Given the description of an element on the screen output the (x, y) to click on. 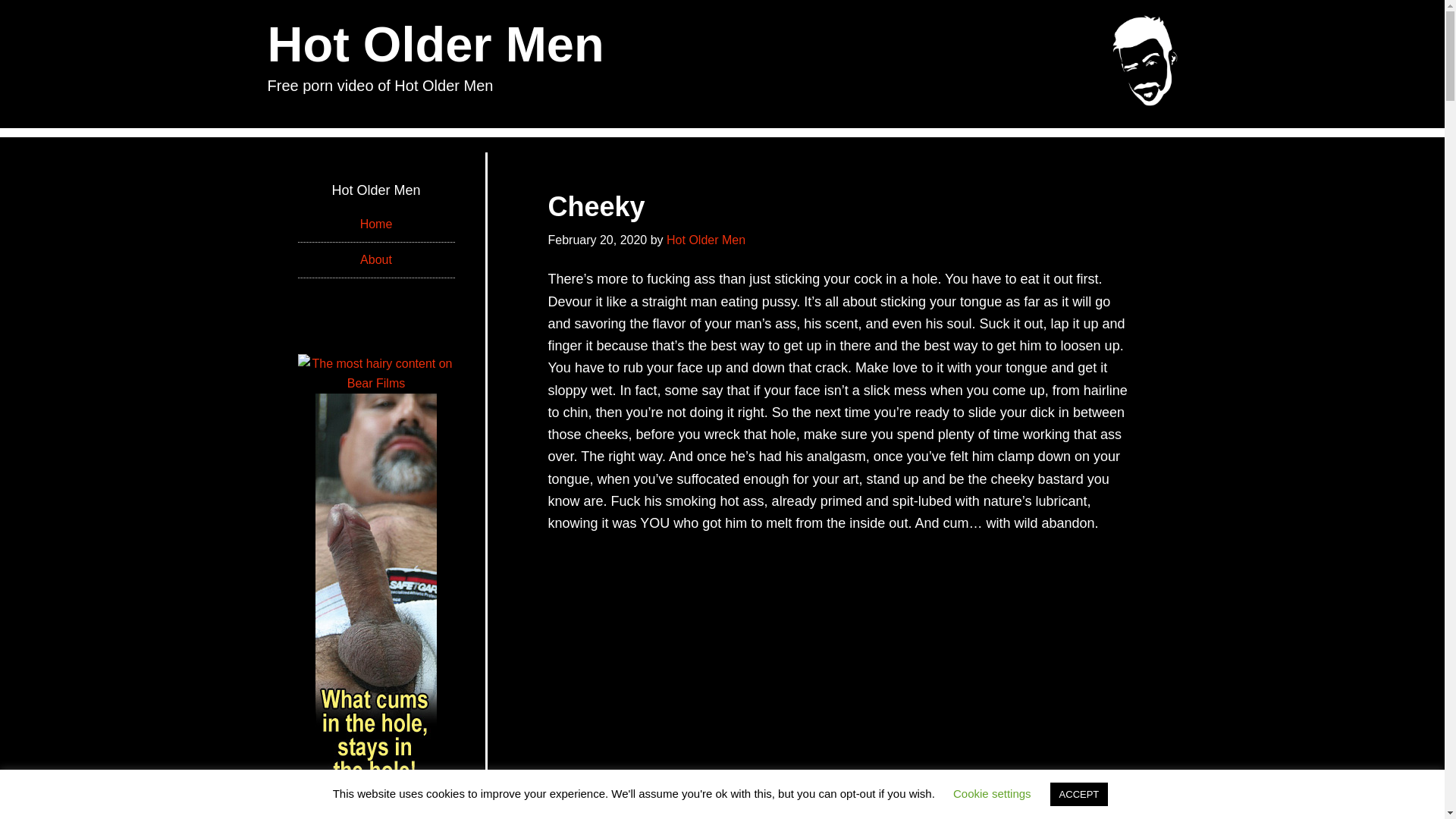
Hot Older Men (705, 239)
Hot Older Men (435, 44)
